Given the description of an element on the screen output the (x, y) to click on. 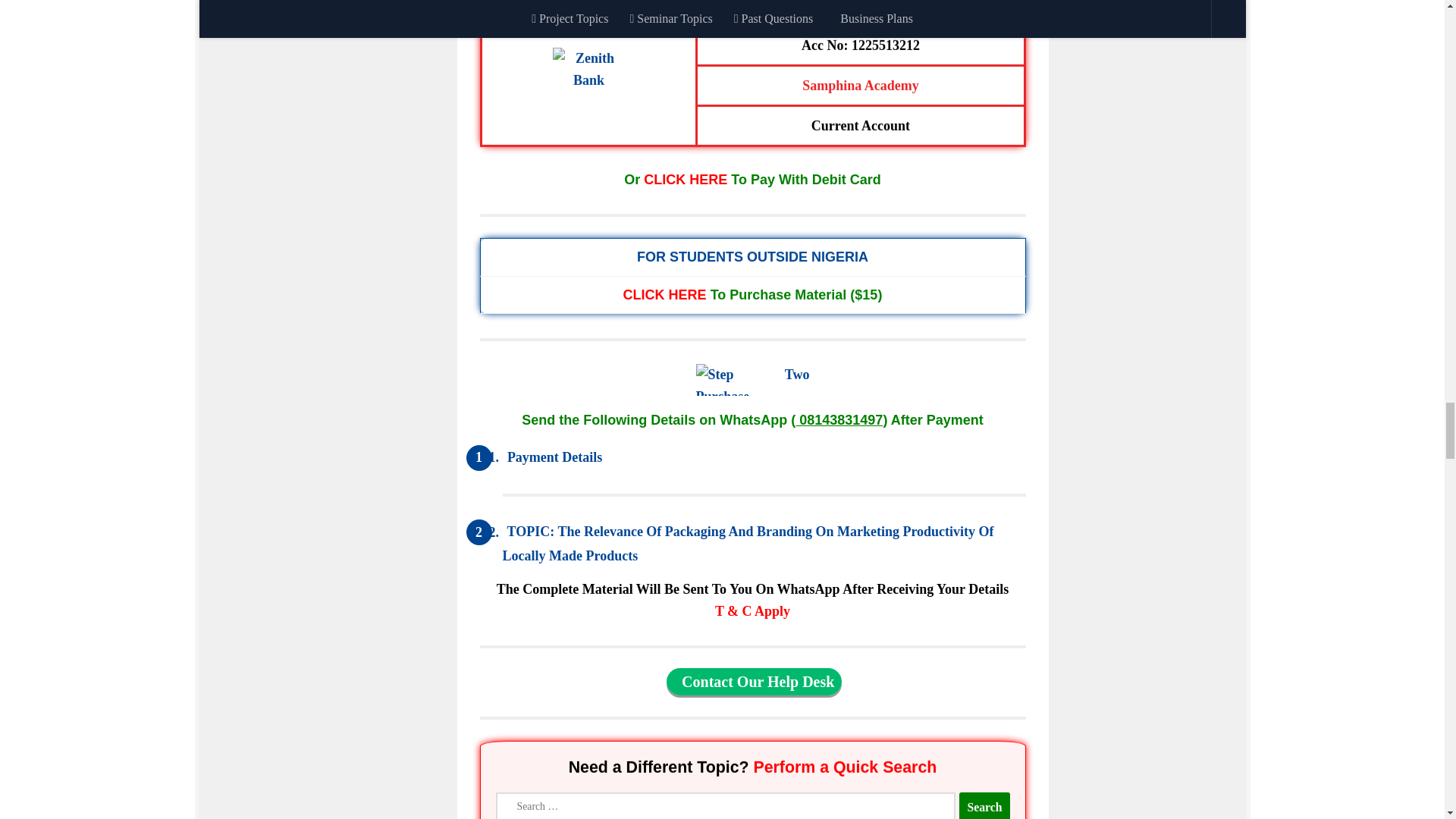
CLICK HERE (664, 294)
CLICK HERE (684, 179)
08143831497 (838, 419)
Search (984, 806)
Contact Our Help Desk (753, 681)
Search (984, 806)
Samphina Terms and Conditions (752, 611)
Search (984, 805)
Contact Information Page (753, 681)
